Given the description of an element on the screen output the (x, y) to click on. 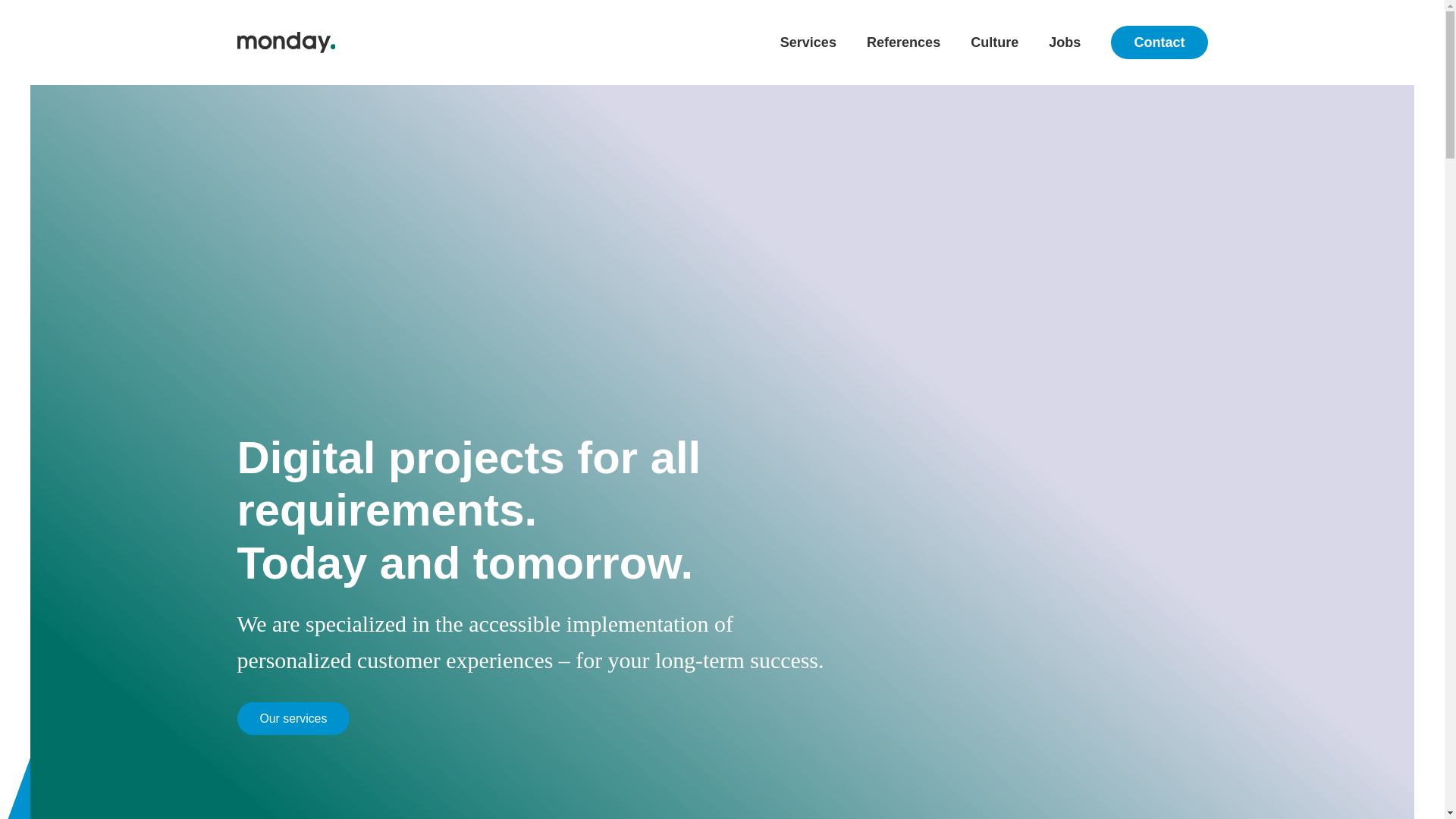
Jobs (1064, 42)
Our services (292, 717)
Monday Consulting Homepage (303, 42)
Culture (994, 42)
Contact (1158, 41)
Services (807, 42)
References (903, 42)
